Given the description of an element on the screen output the (x, y) to click on. 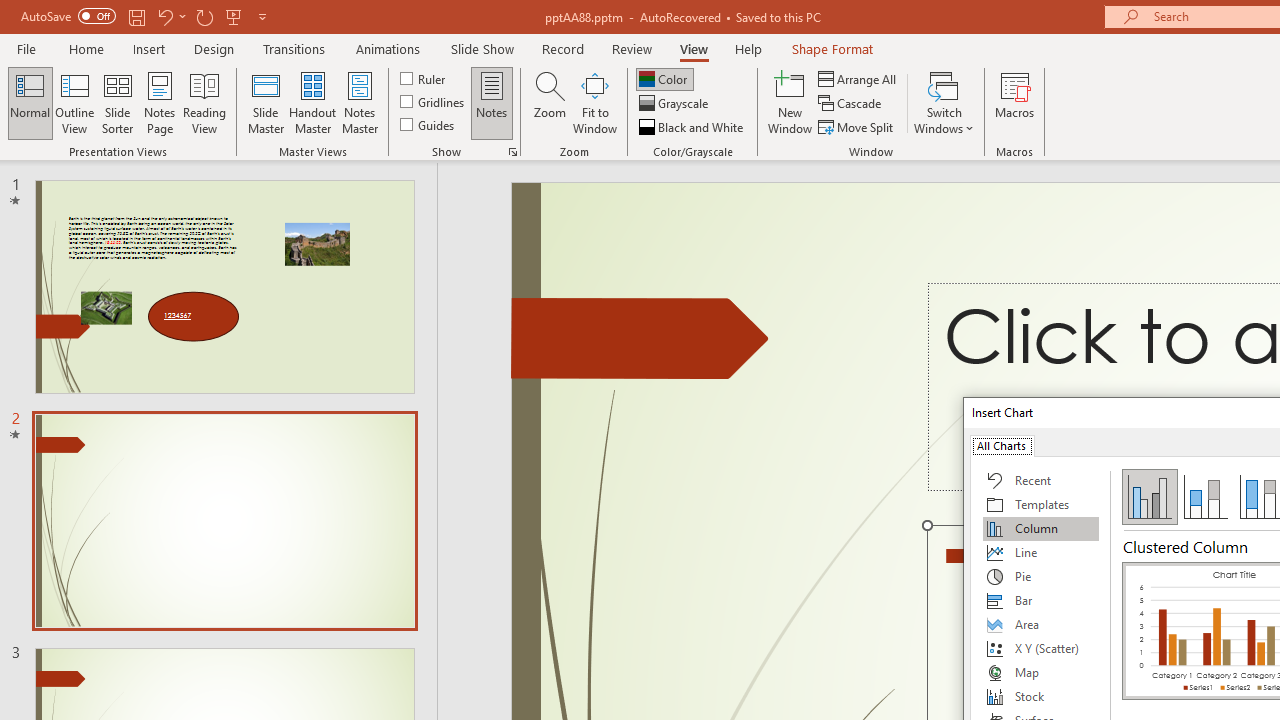
Bar (1041, 600)
Area (1041, 624)
Ruler (423, 78)
Handout Master (312, 102)
Clustered Column (1149, 496)
Slide Master (265, 102)
Arrange All (858, 78)
Stock (1041, 696)
Stacked Column (1205, 496)
